Given the description of an element on the screen output the (x, y) to click on. 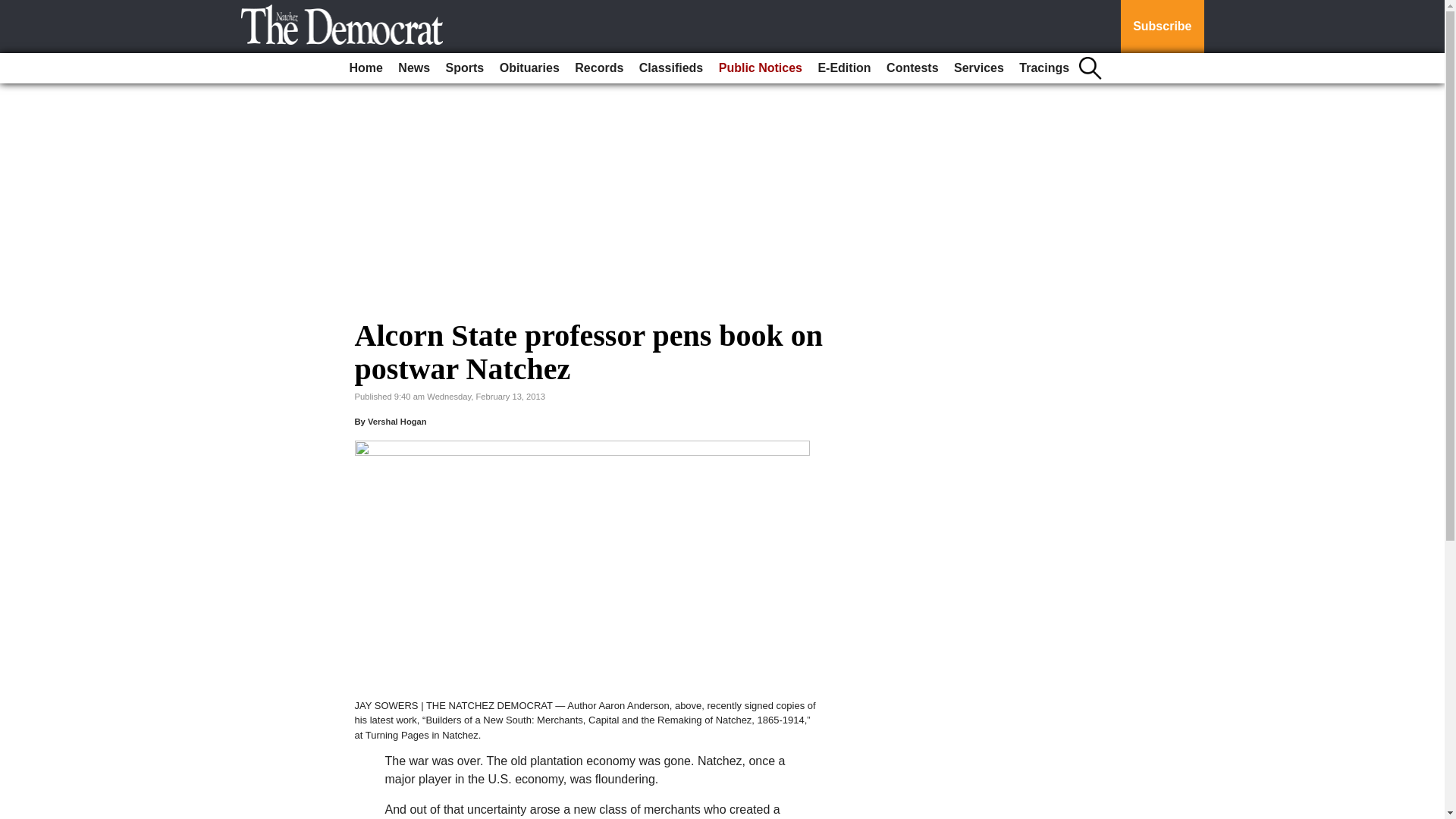
Sports (464, 68)
Records (598, 68)
Go (13, 9)
Public Notices (760, 68)
News (413, 68)
Classifieds (671, 68)
Obituaries (529, 68)
Tracings (1044, 68)
Home (365, 68)
Subscribe (1162, 26)
Vershal Hogan (397, 420)
E-Edition (843, 68)
Services (978, 68)
Contests (911, 68)
